Given the description of an element on the screen output the (x, y) to click on. 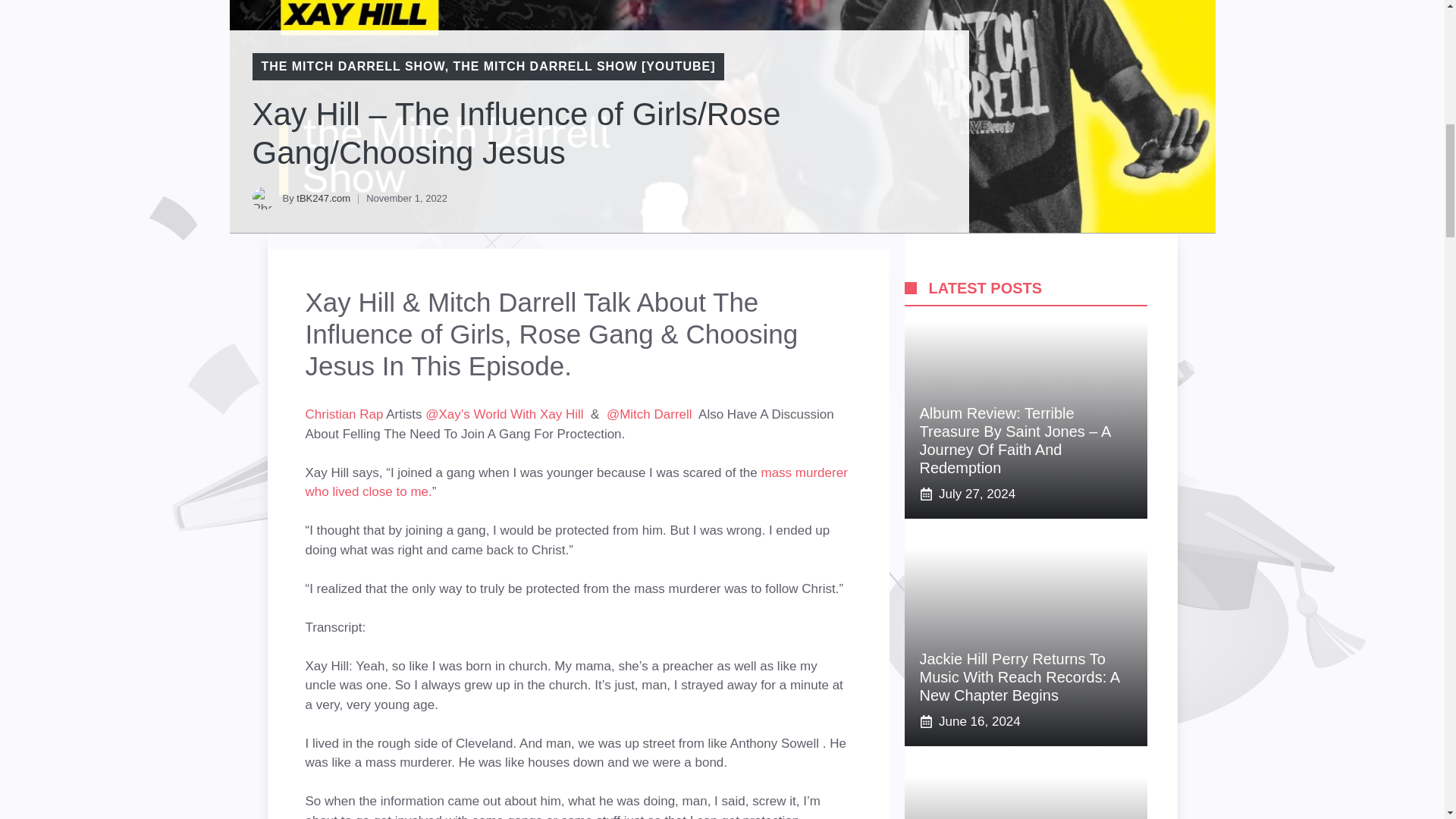
Scroll back to top (1406, 720)
